Given the description of an element on the screen output the (x, y) to click on. 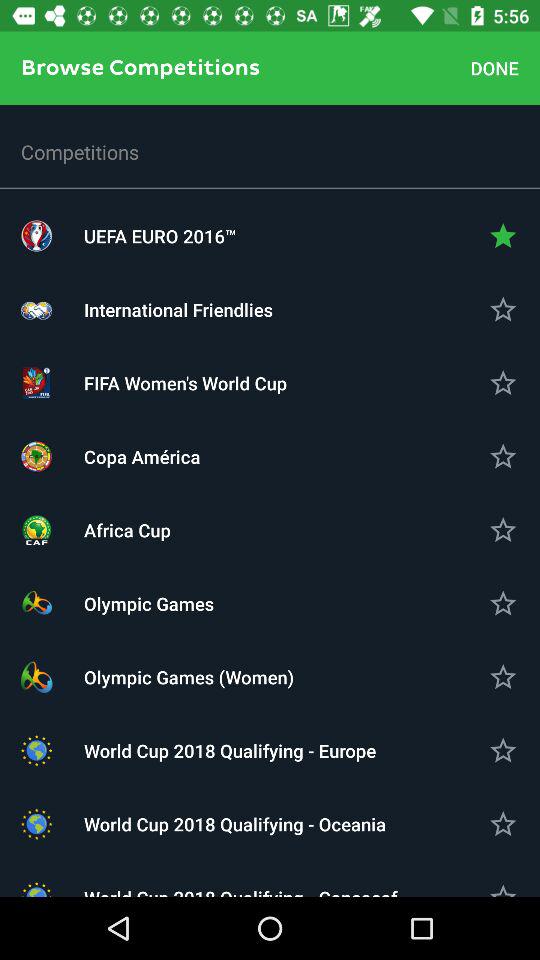
select icon above the international friendlies (270, 235)
